Given the description of an element on the screen output the (x, y) to click on. 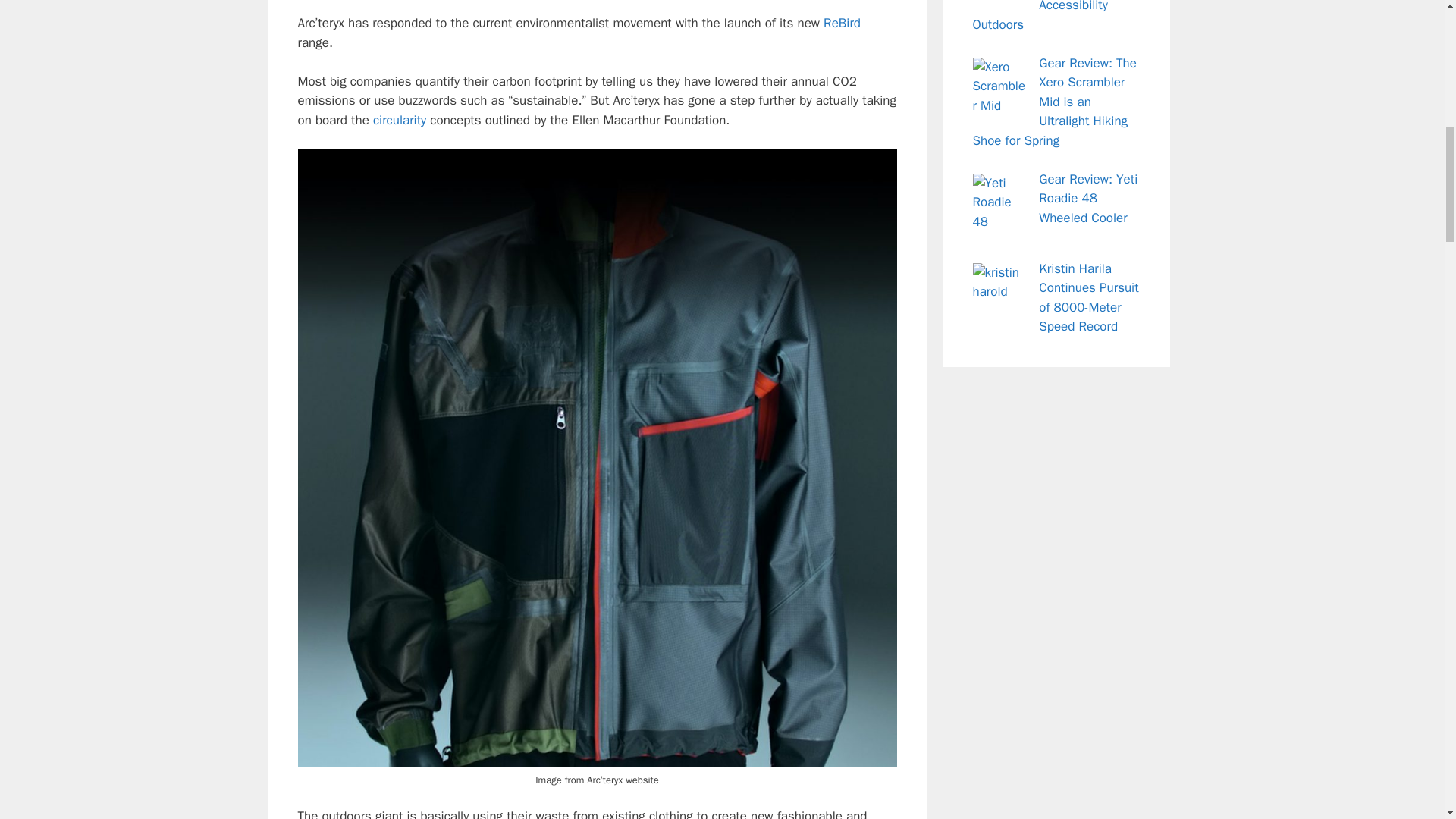
circularity (399, 119)
ReBird (842, 23)
